Given the description of an element on the screen output the (x, y) to click on. 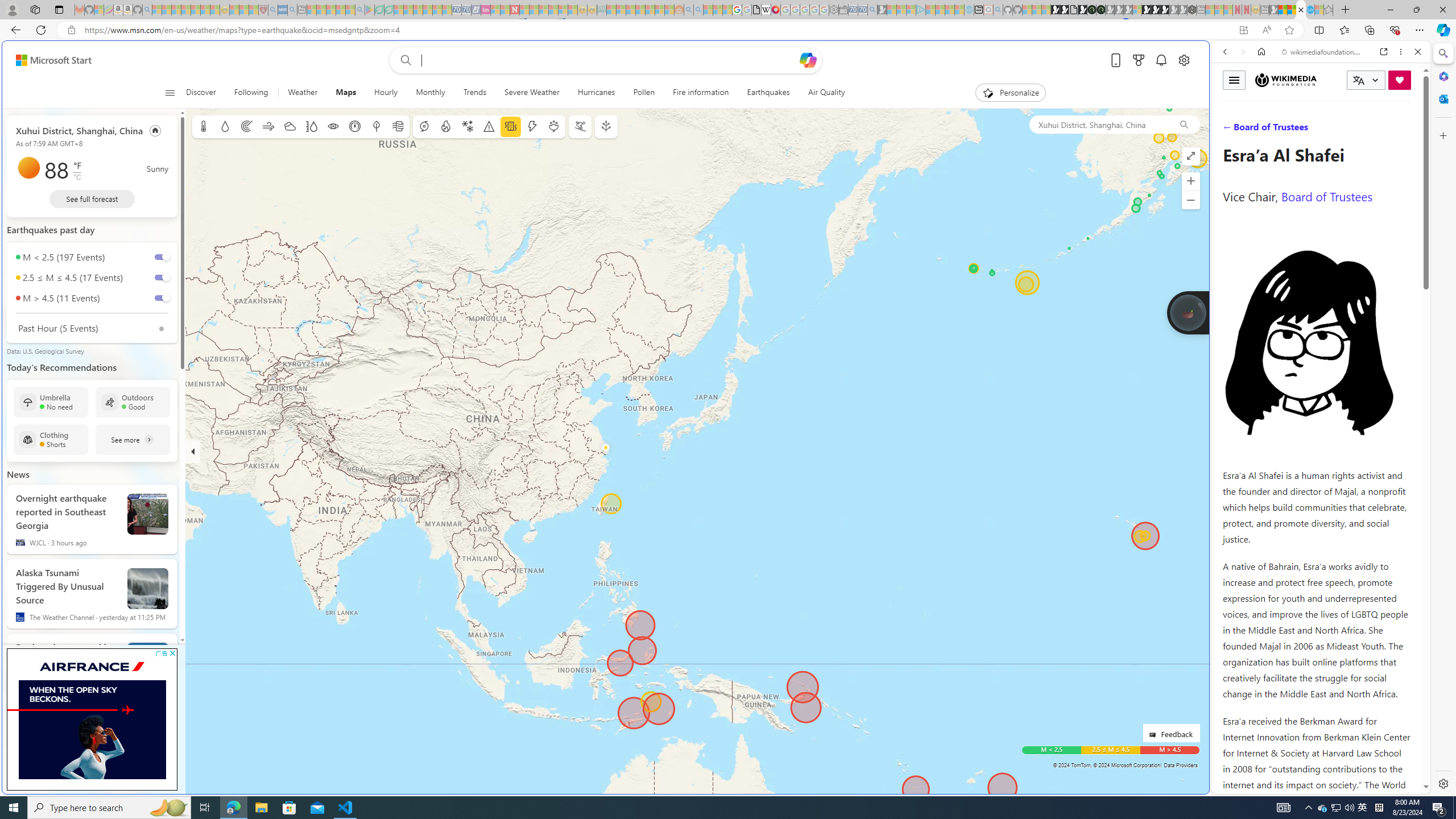
Home (1261, 51)
Sign in to your account - Sleeping (1137, 9)
Search for location (1098, 124)
Pollen (643, 92)
Skip to content (49, 59)
Kinda Frugal - MSN - Sleeping (649, 9)
Open Copilot (807, 59)
Umbrella No need (50, 401)
